Given the description of an element on the screen output the (x, y) to click on. 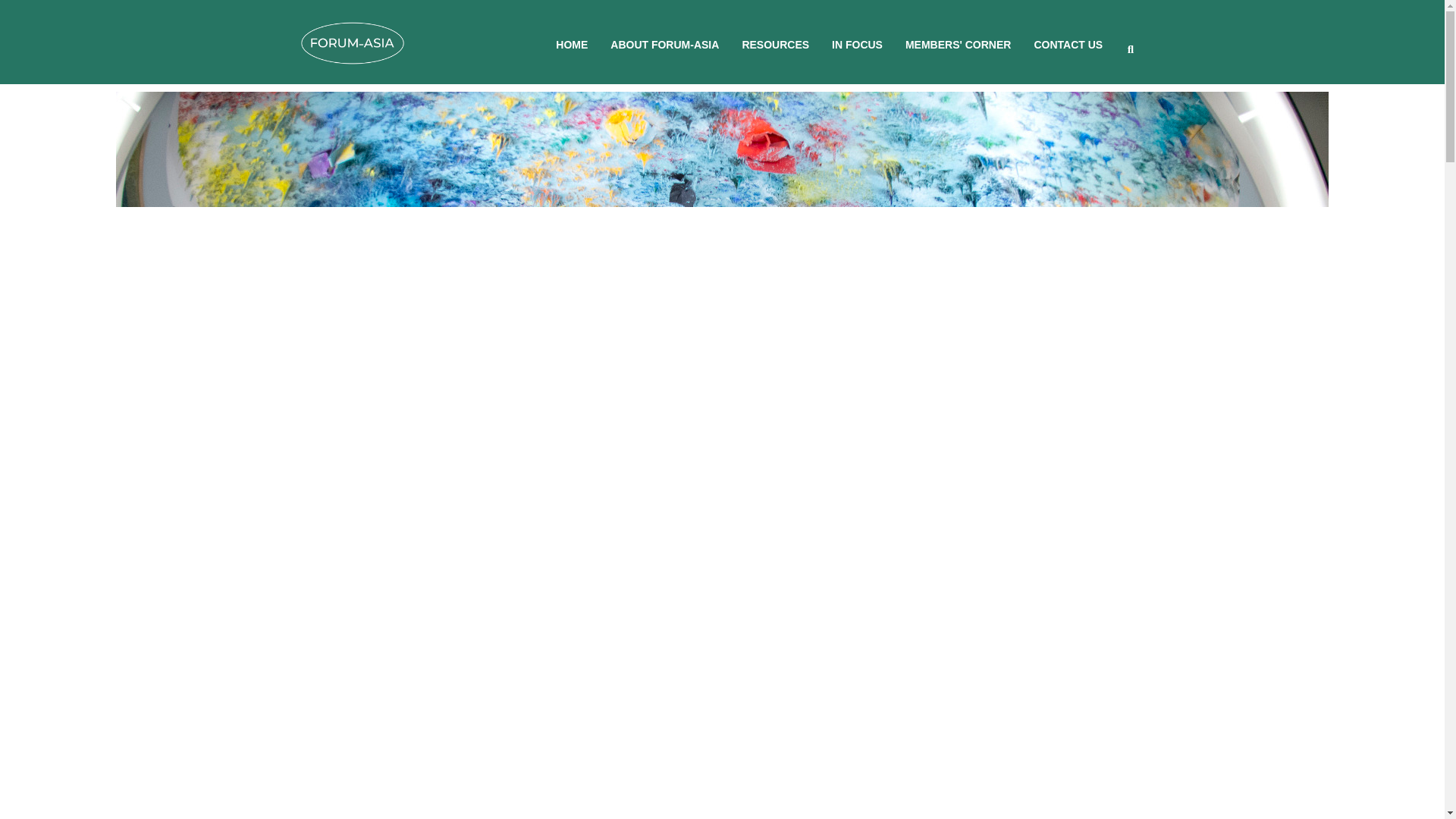
MEMBERS' CORNER (957, 44)
RESOURCES (774, 44)
IN FOCUS (856, 44)
HOME (571, 44)
ABOUT FORUM-ASIA (664, 44)
CONTACT US (1067, 44)
